Given the description of an element on the screen output the (x, y) to click on. 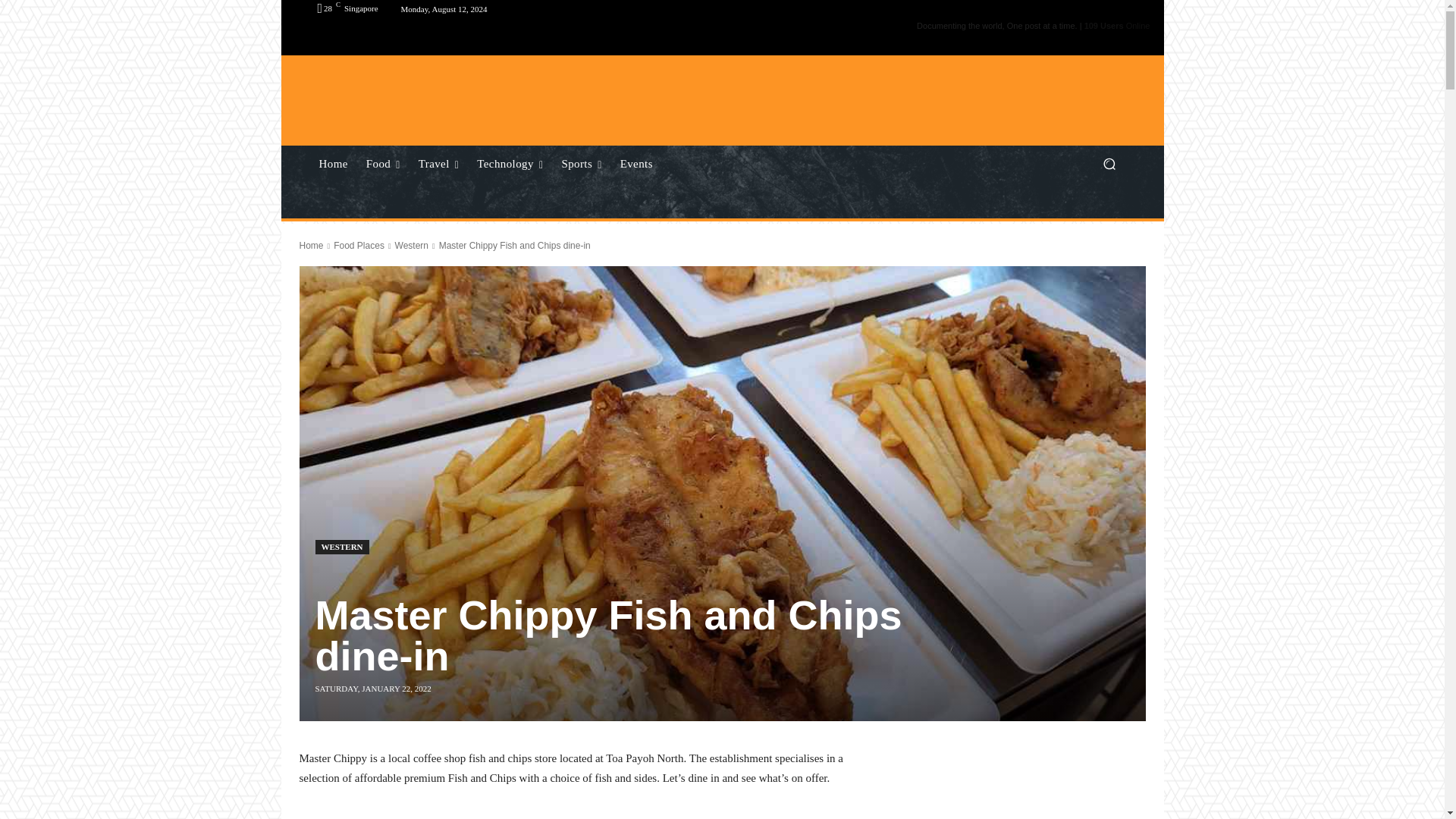
Food (382, 163)
Documenting the world, one post at a time (425, 112)
Home (332, 163)
109 Users Online (1117, 25)
